Given the description of an element on the screen output the (x, y) to click on. 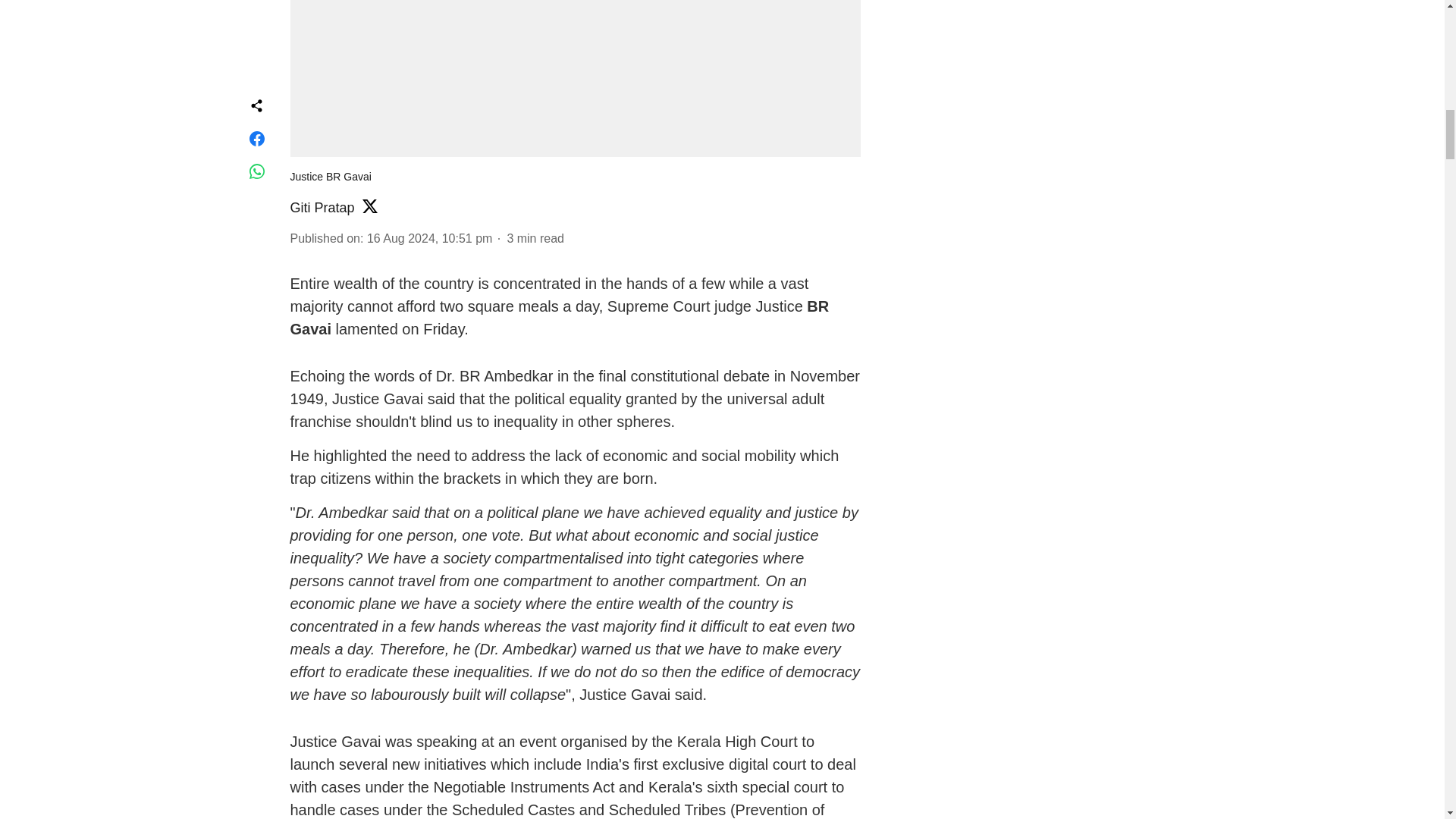
2024-08-16 14:51 (429, 237)
Giti Pratap (321, 207)
3rd party ad content (1015, 28)
